Given the description of an element on the screen output the (x, y) to click on. 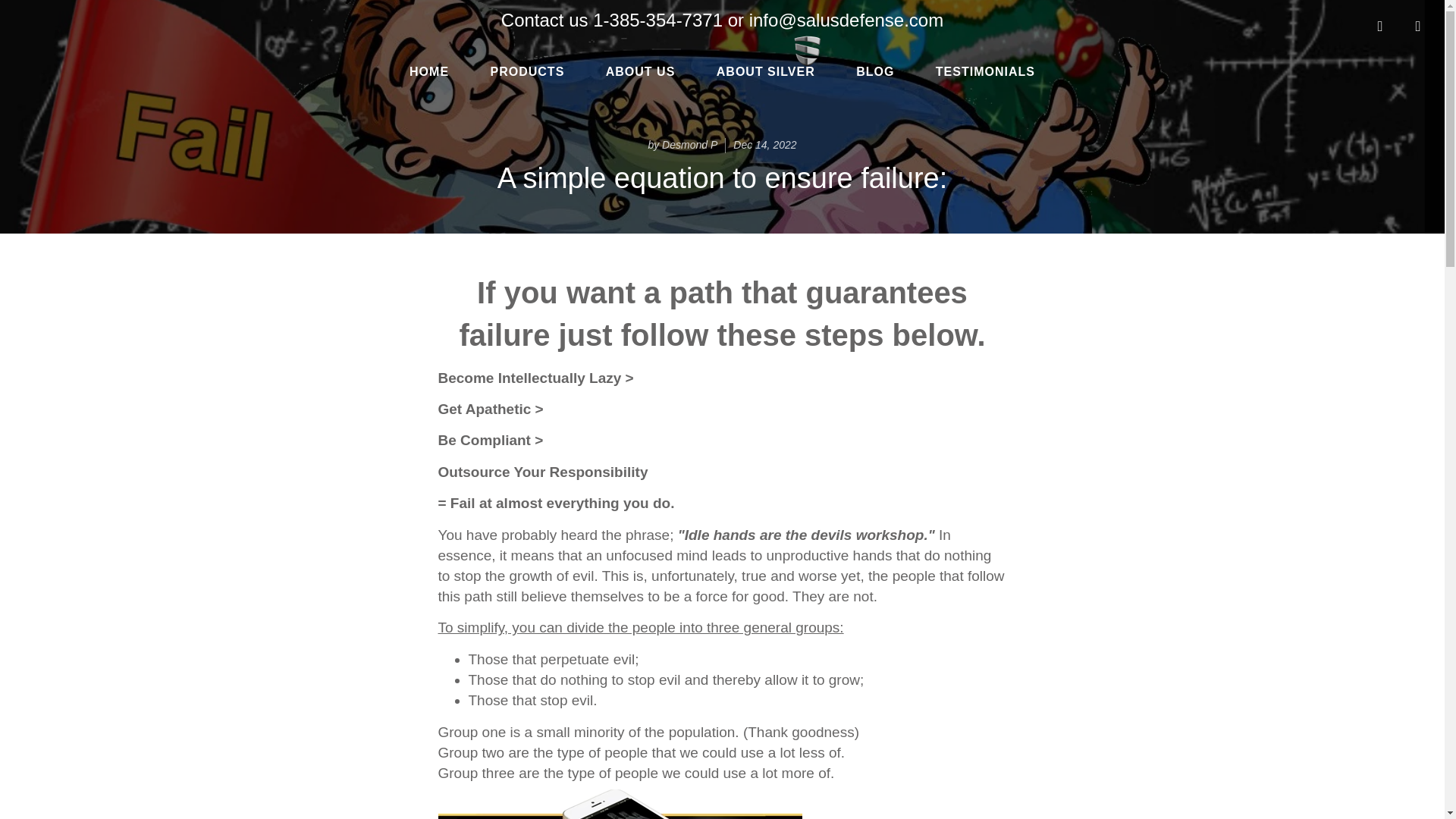
You have 0 items in your cart (1417, 26)
TESTIMONIALS (985, 71)
ABOUT US (640, 71)
My account (1379, 26)
ABOUT SILVER (765, 71)
HOME (428, 71)
BLOG (874, 71)
PRODUCTS (527, 71)
